Given the description of an element on the screen output the (x, y) to click on. 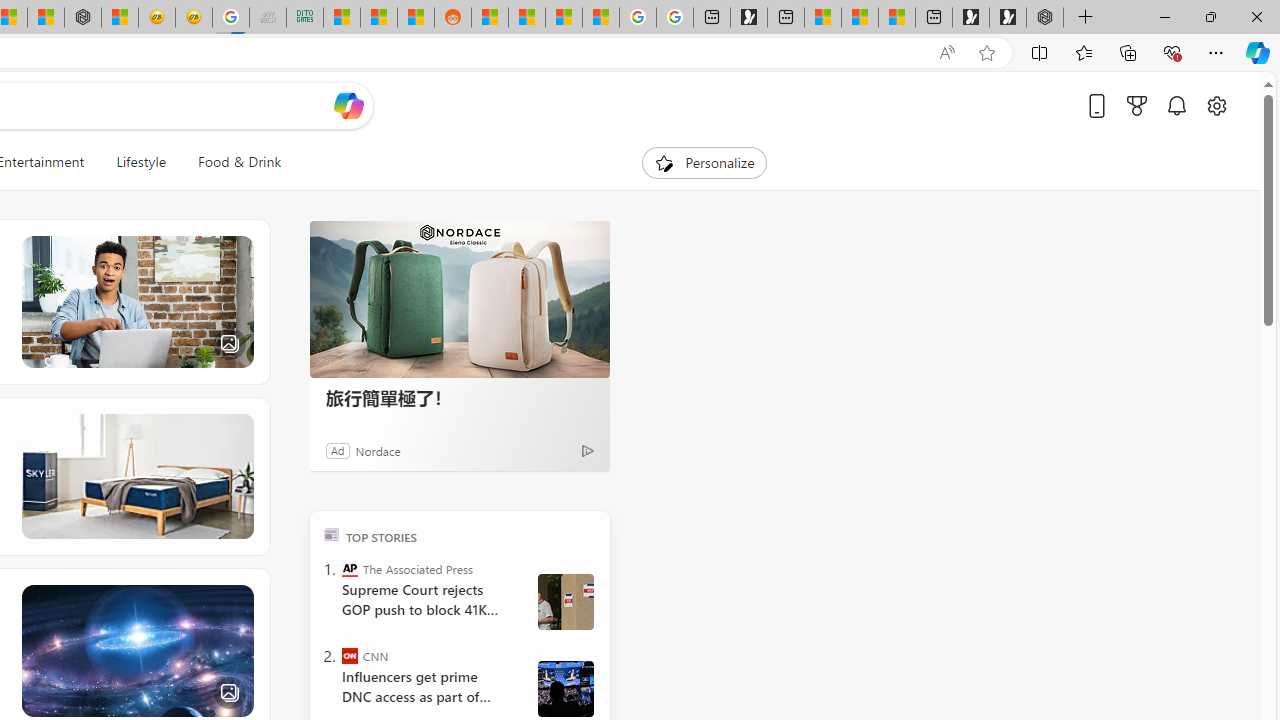
The Associated Press (349, 568)
